Given the description of an element on the screen output the (x, y) to click on. 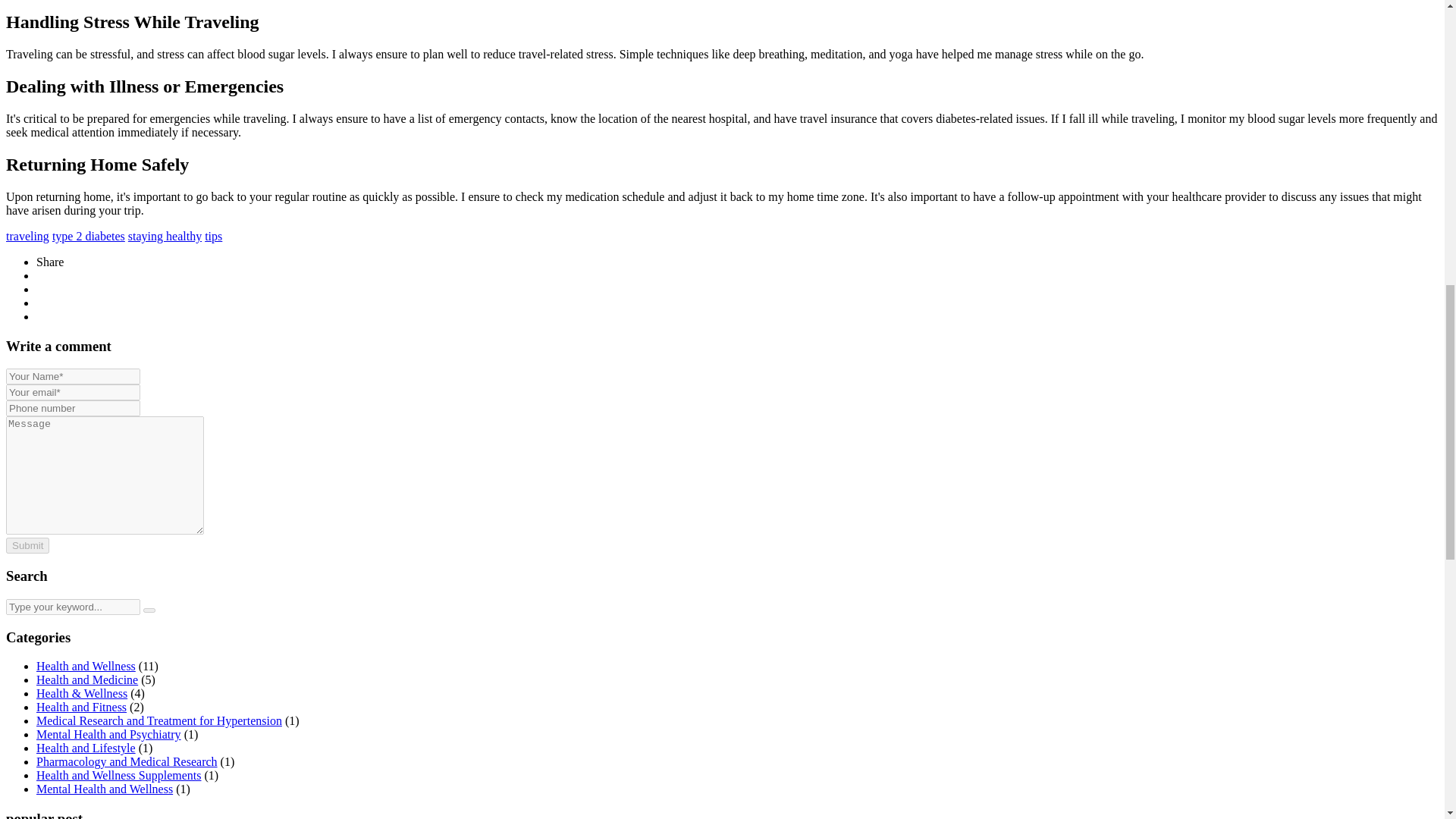
traveling (27, 236)
Mental Health and Wellness (104, 788)
type 2 diabetes (88, 236)
Medical Research and Treatment for Hypertension (159, 720)
tips (213, 236)
Pharmacology and Medical Research (126, 761)
Health and Wellness (85, 666)
Mental Health and Psychiatry (108, 734)
staying healthy (165, 236)
Submit (27, 545)
